Given the description of an element on the screen output the (x, y) to click on. 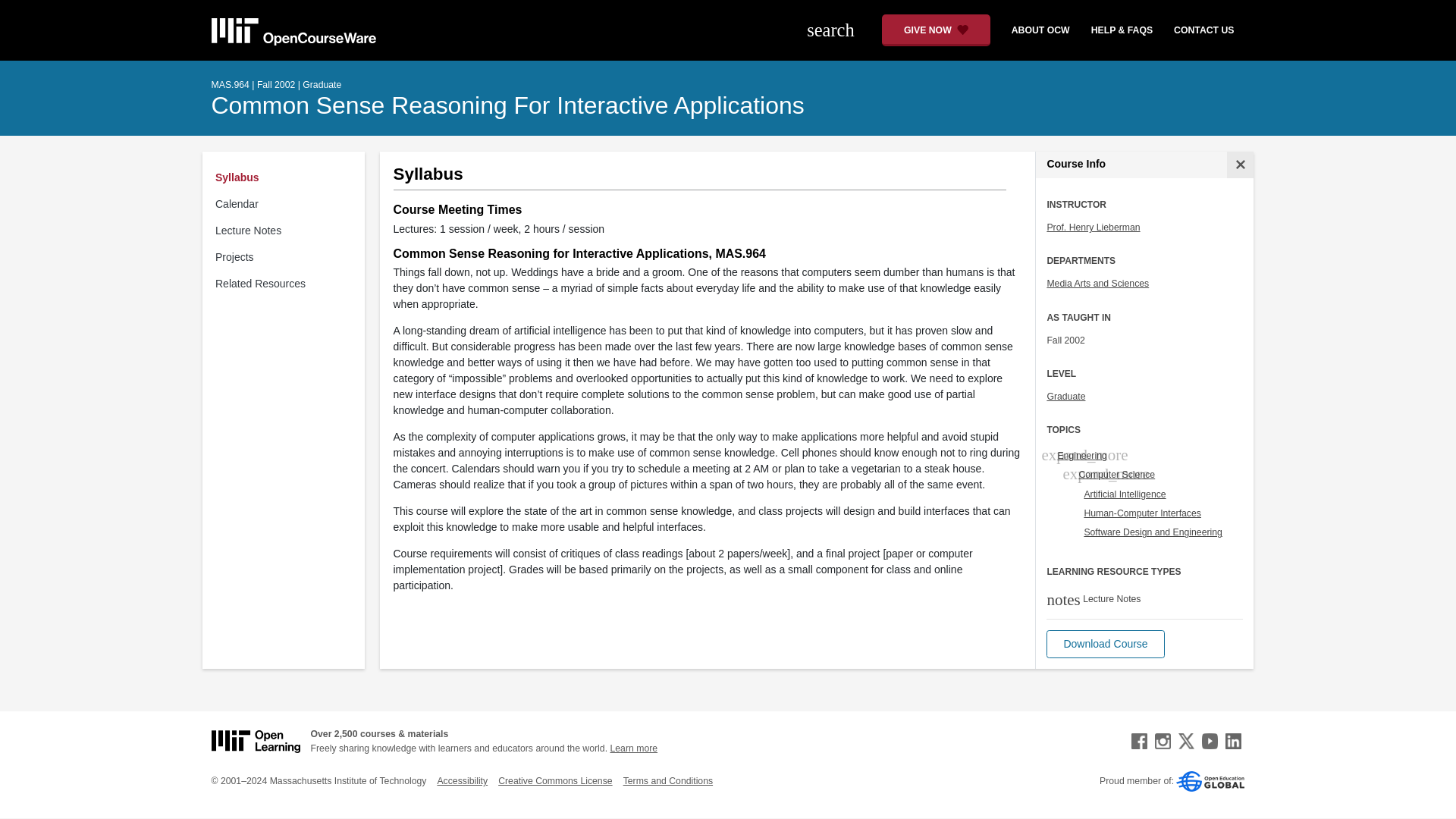
Calendar (287, 203)
Projects (287, 257)
ABOUT OCW (1035, 30)
GIVE NOW (936, 29)
Syllabus (287, 177)
Lecture Notes (287, 230)
Related Resources (287, 284)
Common Sense Reasoning For Interactive Applications (507, 104)
CONTACT US (1203, 30)
search (839, 30)
